Given the description of an element on the screen output the (x, y) to click on. 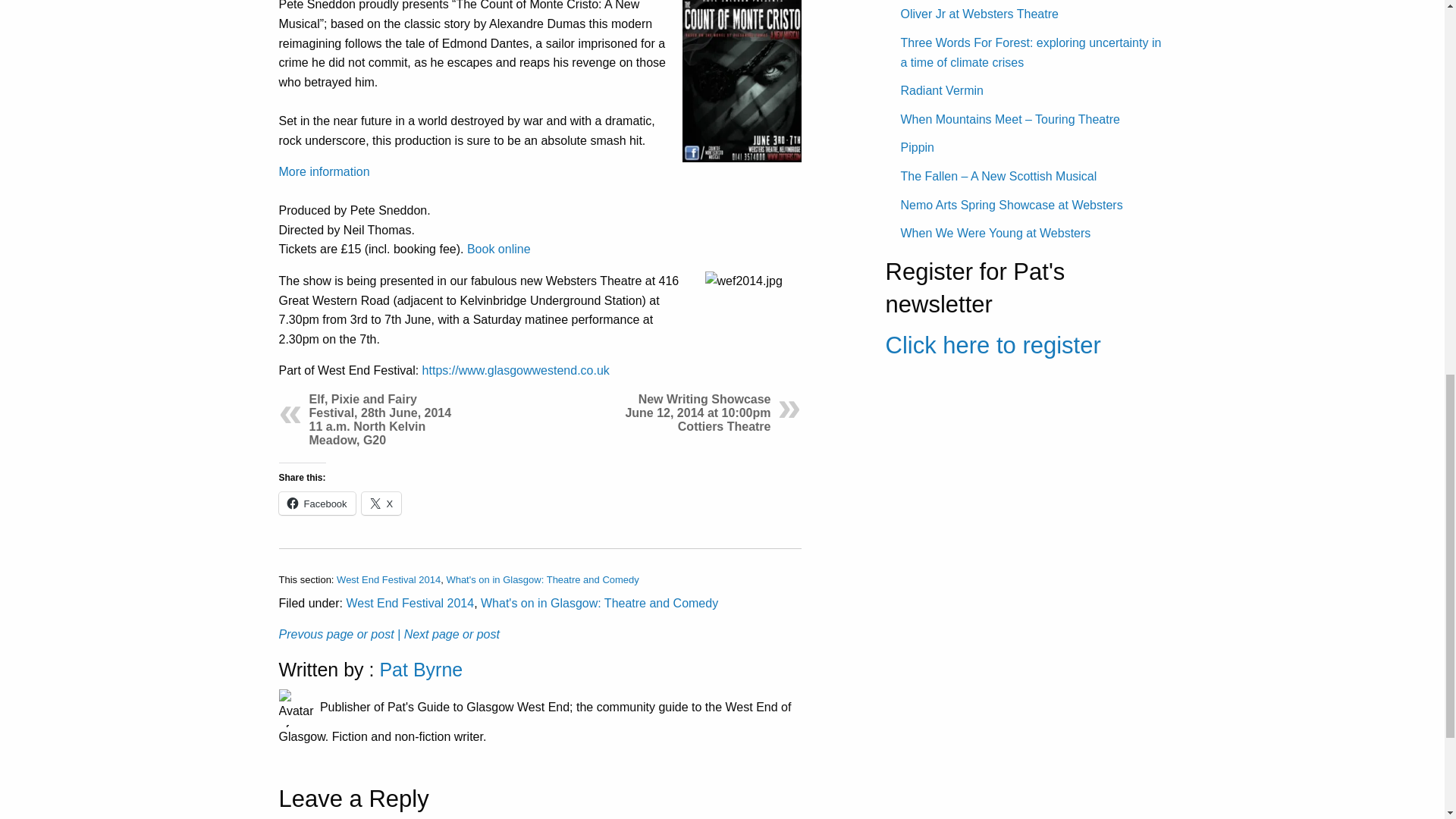
Facebook (317, 503)
More information (324, 171)
X (381, 503)
West End Festival 2014 (410, 603)
What's on in Glasgow: Theatre and Comedy (542, 579)
Prevous page or post (336, 634)
What's on in Glasgow: Theatre and Comedy (598, 603)
Book online (499, 248)
